Given the description of an element on the screen output the (x, y) to click on. 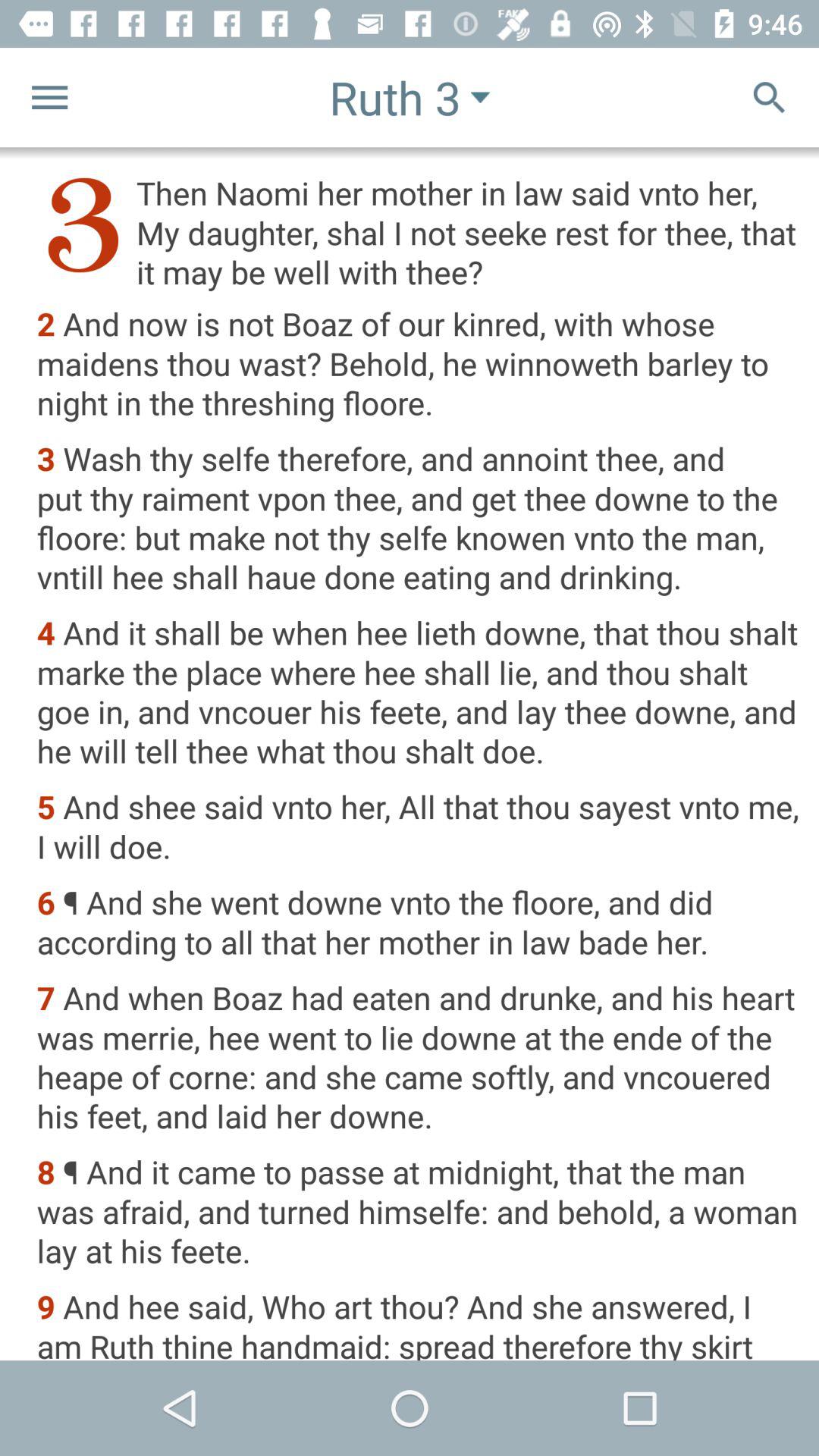
select the item above the 6 and she item (417, 827)
